Given the description of an element on the screen output the (x, y) to click on. 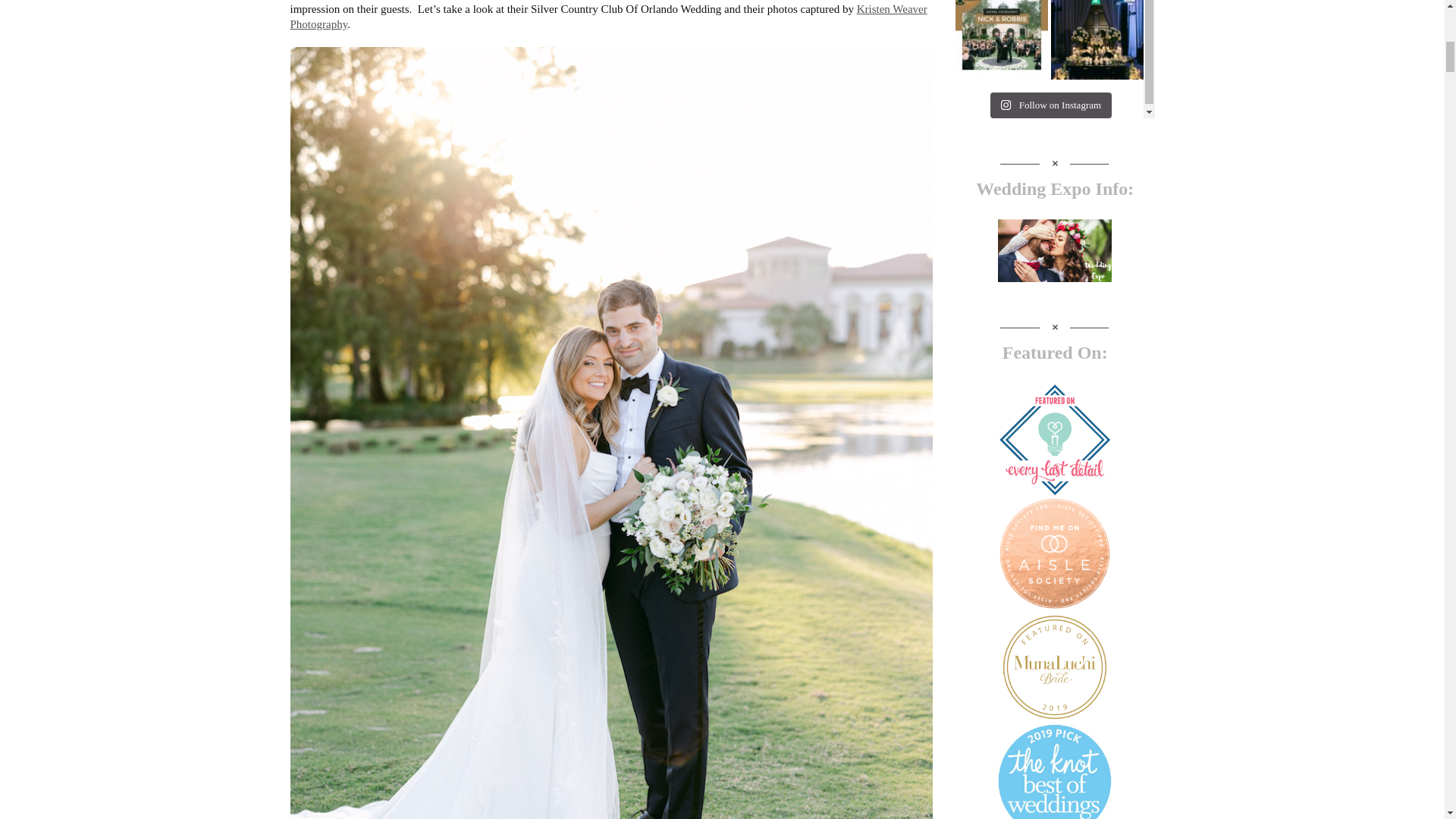
As featured in Aisle Society (1054, 553)
As featured in TheKnot (1054, 771)
Wedding Expo Oct 29 (1054, 250)
As featured in Every Last Detail (1054, 439)
As featured in MunaLuchi Bride (1054, 666)
